Given the description of an element on the screen output the (x, y) to click on. 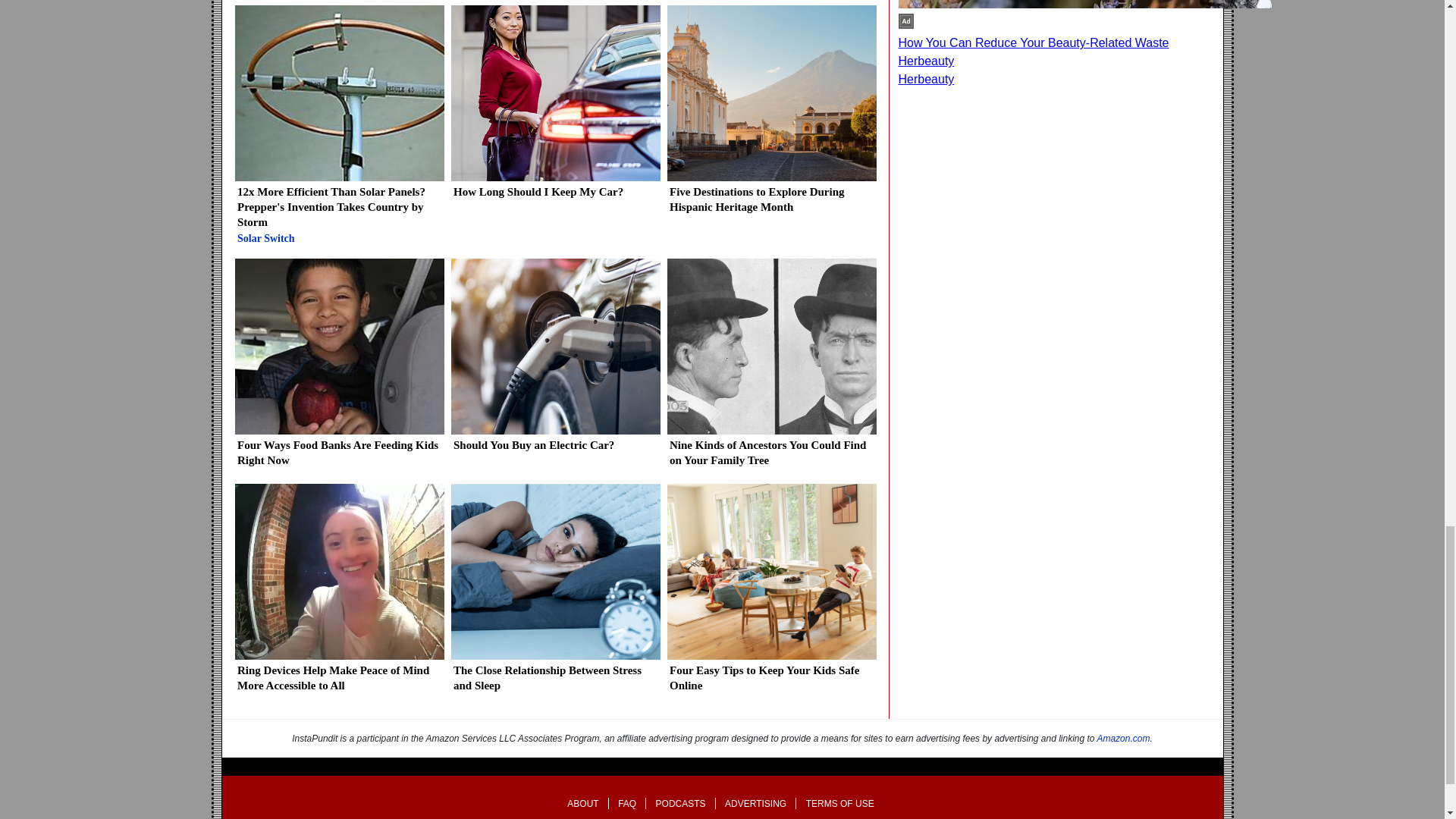
Nine Kinds of Ancestors You Could Find on Your Family Tree (770, 368)
Four Easy Tips to Keep Your Kids Safe Online (770, 594)
Four Ways Food Banks Are Feeding Kids Right Now (338, 368)
Nine Kinds of Ancestors You Could Find on Your Family Tree (770, 368)
Five Destinations to Explore During Hispanic Heritage Month (770, 115)
Four Ways Food Banks Are Feeding Kids Right Now (338, 368)
Five Destinations to Explore During Hispanic Heritage Month (770, 115)
The Close Relationship Between Stress and Sleep (554, 594)
Ring Devices Help Make Peace of Mind More Accessible to All (338, 594)
Ring Devices Help Make Peace of Mind More Accessible to All (338, 594)
Should You Buy an Electric Car? (554, 361)
How Long Should I Keep My Car? (554, 107)
The Close Relationship Between Stress and Sleep (554, 594)
